Given the description of an element on the screen output the (x, y) to click on. 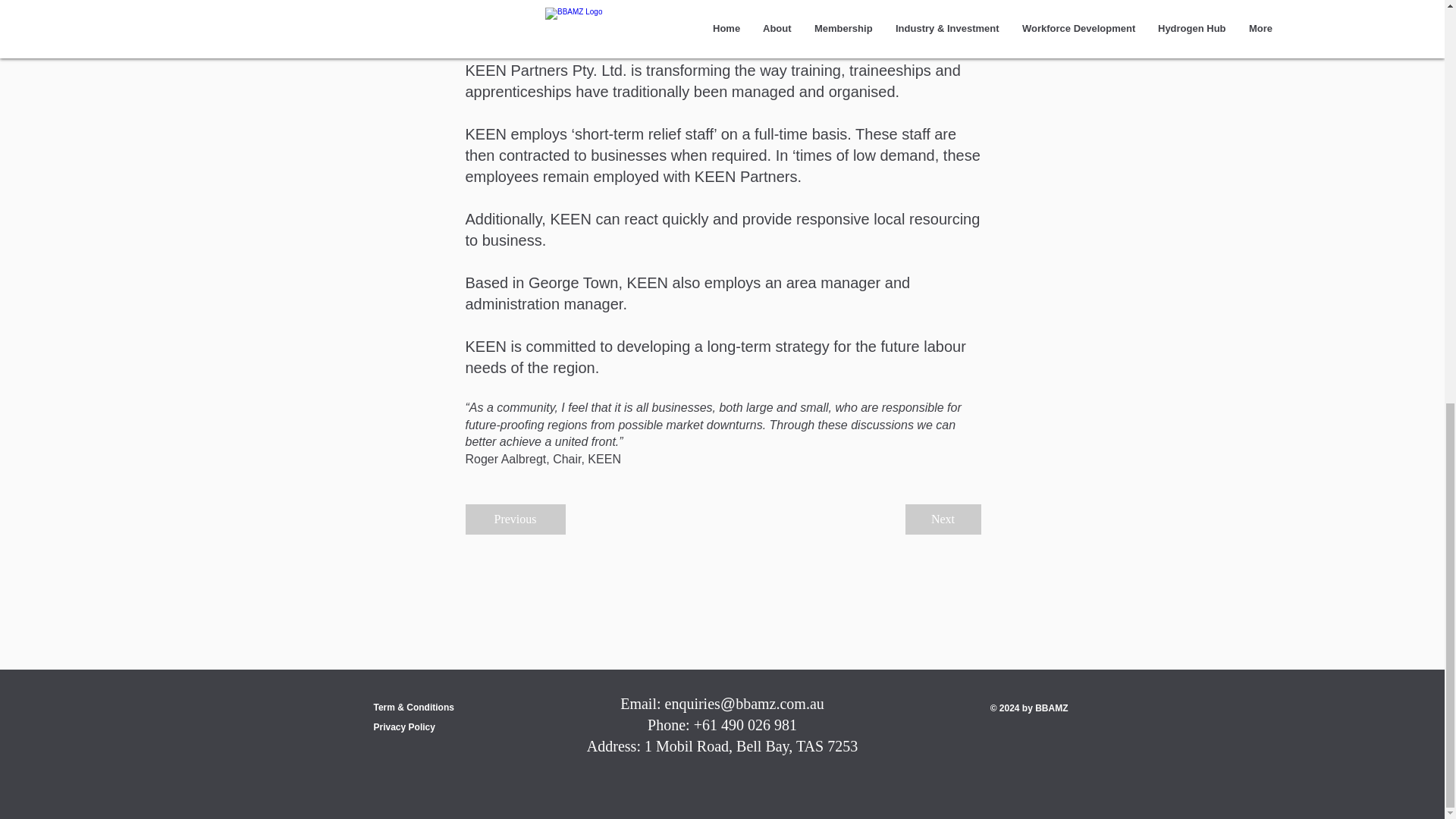
Privacy Policy (402, 726)
Email: enquiries (670, 703)
Next (943, 519)
Previous (515, 519)
